Given the description of an element on the screen output the (x, y) to click on. 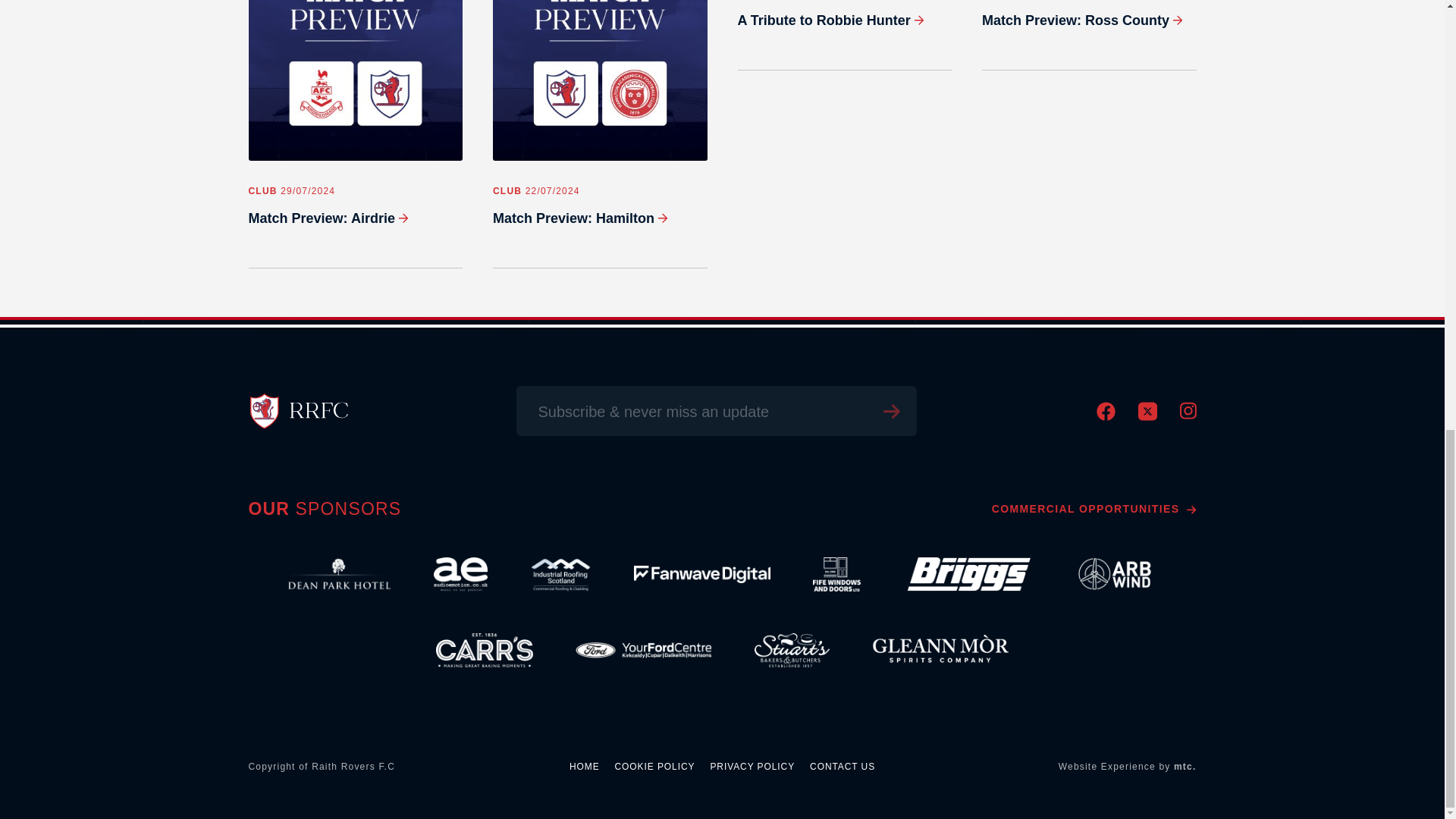
Industrial Roofing Scotland (560, 574)
Commercial Opportunities (1093, 508)
Your Ford Centre (643, 650)
Find us on Facebook (1105, 417)
Dean Park Hotel (339, 574)
Find us on Instagram (1187, 415)
Carr's (484, 650)
Find us on X (1146, 417)
ARB Wind (1114, 574)
Fanwave Digital (701, 574)
Brigg's Marine (966, 574)
